Given the description of an element on the screen output the (x, y) to click on. 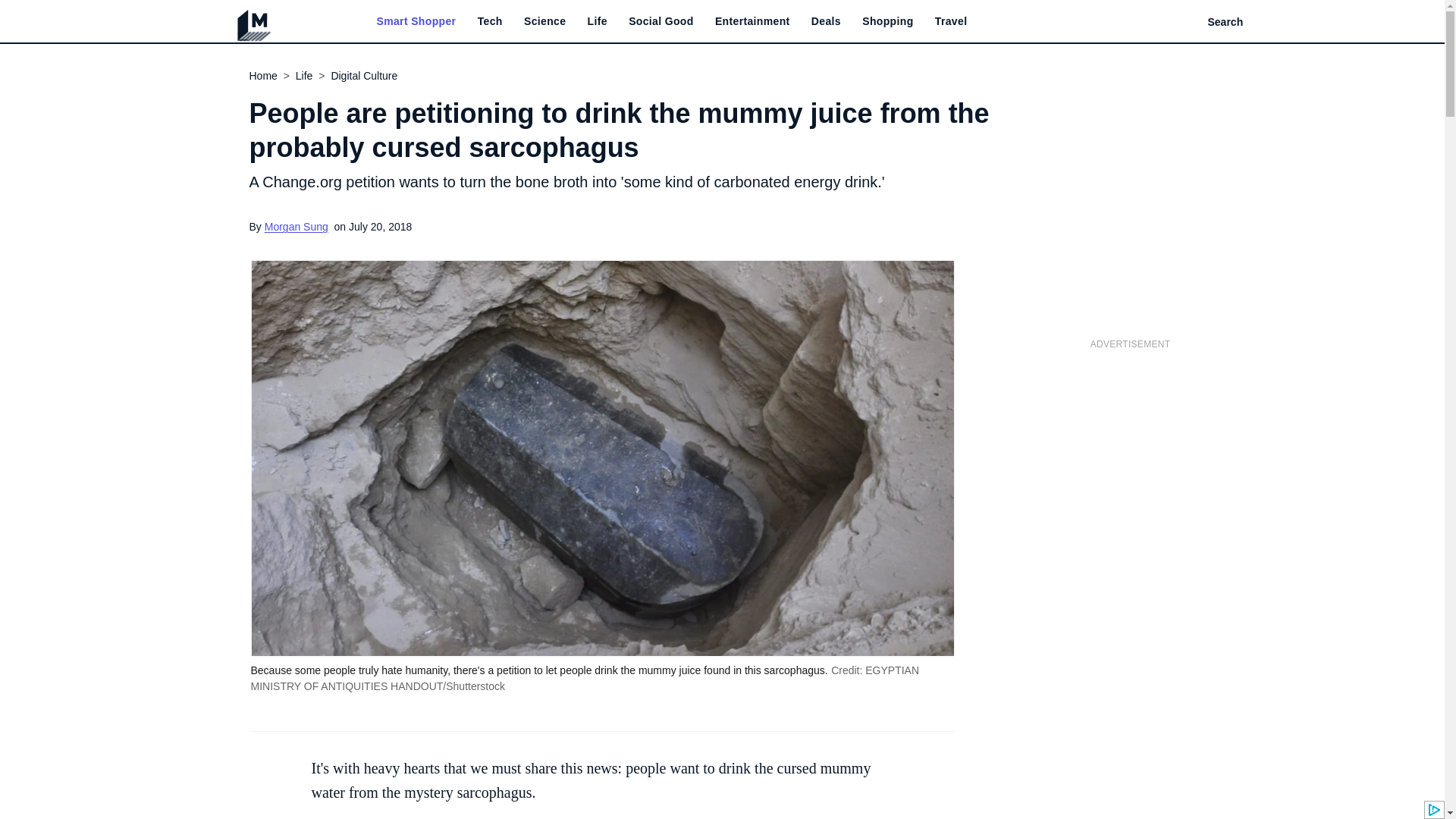
Travel (951, 21)
Social Good (661, 21)
Tech (489, 21)
Smart Shopper (415, 21)
Entertainment (752, 21)
Deals (825, 21)
Science (545, 21)
Shopping (886, 21)
Life (597, 21)
